Given the description of an element on the screen output the (x, y) to click on. 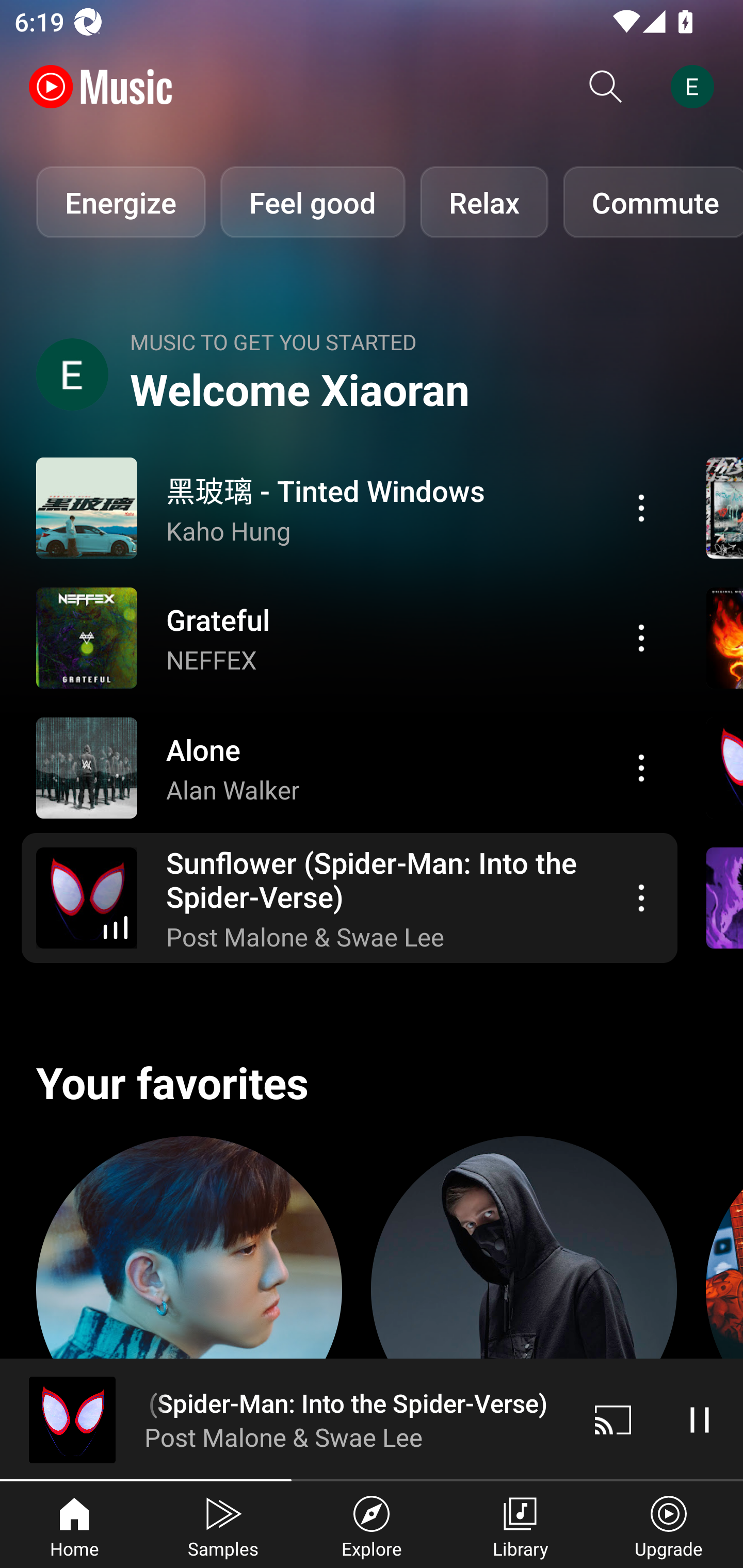
Search (605, 86)
Account (696, 86)
Action menu (349, 507)
Action menu (641, 507)
Action menu (349, 637)
Action menu (641, 638)
Action menu (349, 767)
Action menu (641, 768)
Action menu (349, 897)
Action menu (641, 897)
Cast. Disconnected (612, 1419)
Pause video (699, 1419)
Samples (222, 1524)
Explore (371, 1524)
Library (519, 1524)
Upgrade (668, 1524)
